Given the description of an element on the screen output the (x, y) to click on. 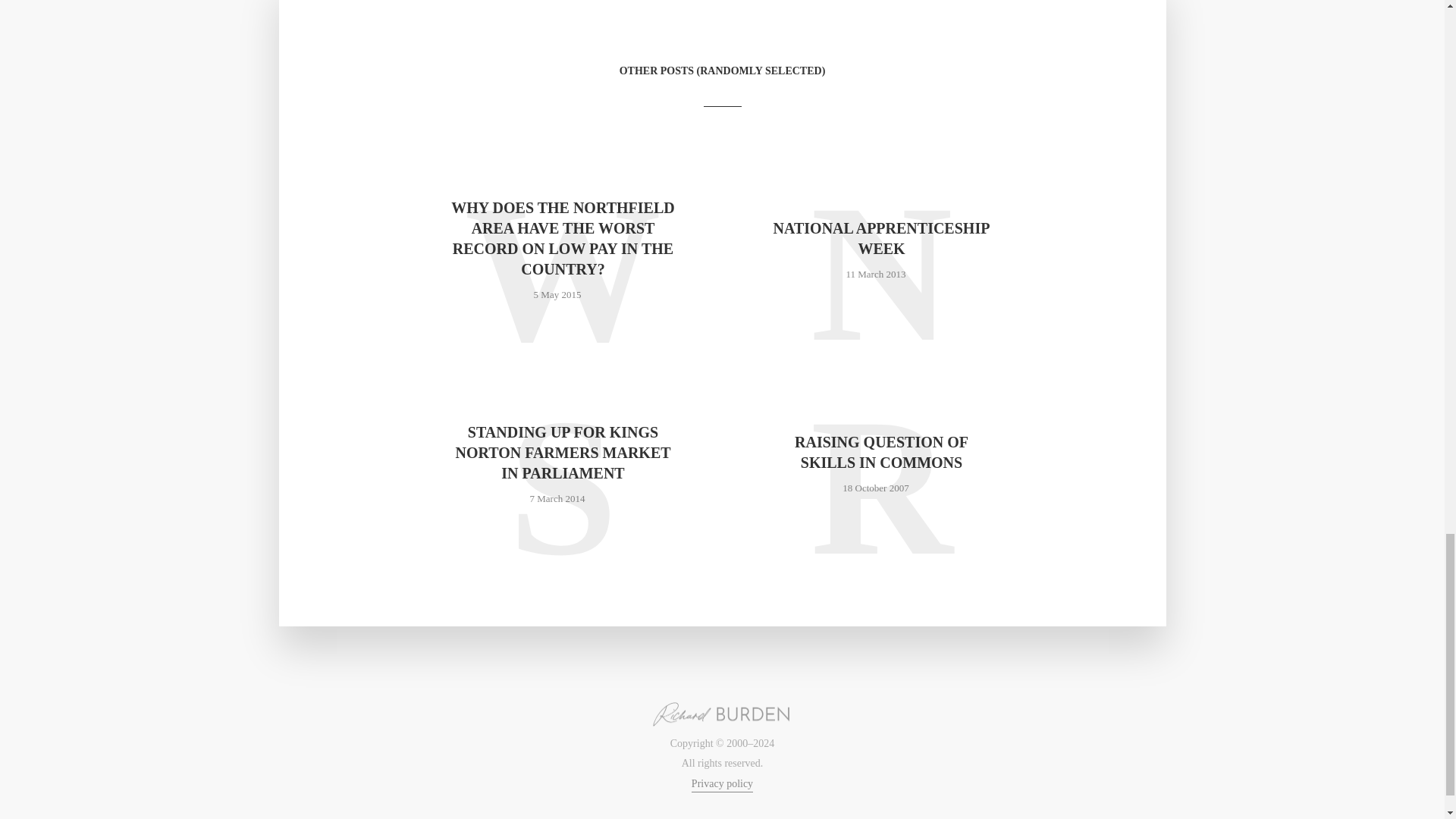
NATIONAL APPRENTICESHIP WEEK (880, 238)
Privacy policy (721, 785)
STANDING UP FOR KINGS NORTON FARMERS MARKET IN PARLIAMENT (562, 453)
RAISING QUESTION OF SKILLS IN COMMONS (880, 452)
